Given the description of an element on the screen output the (x, y) to click on. 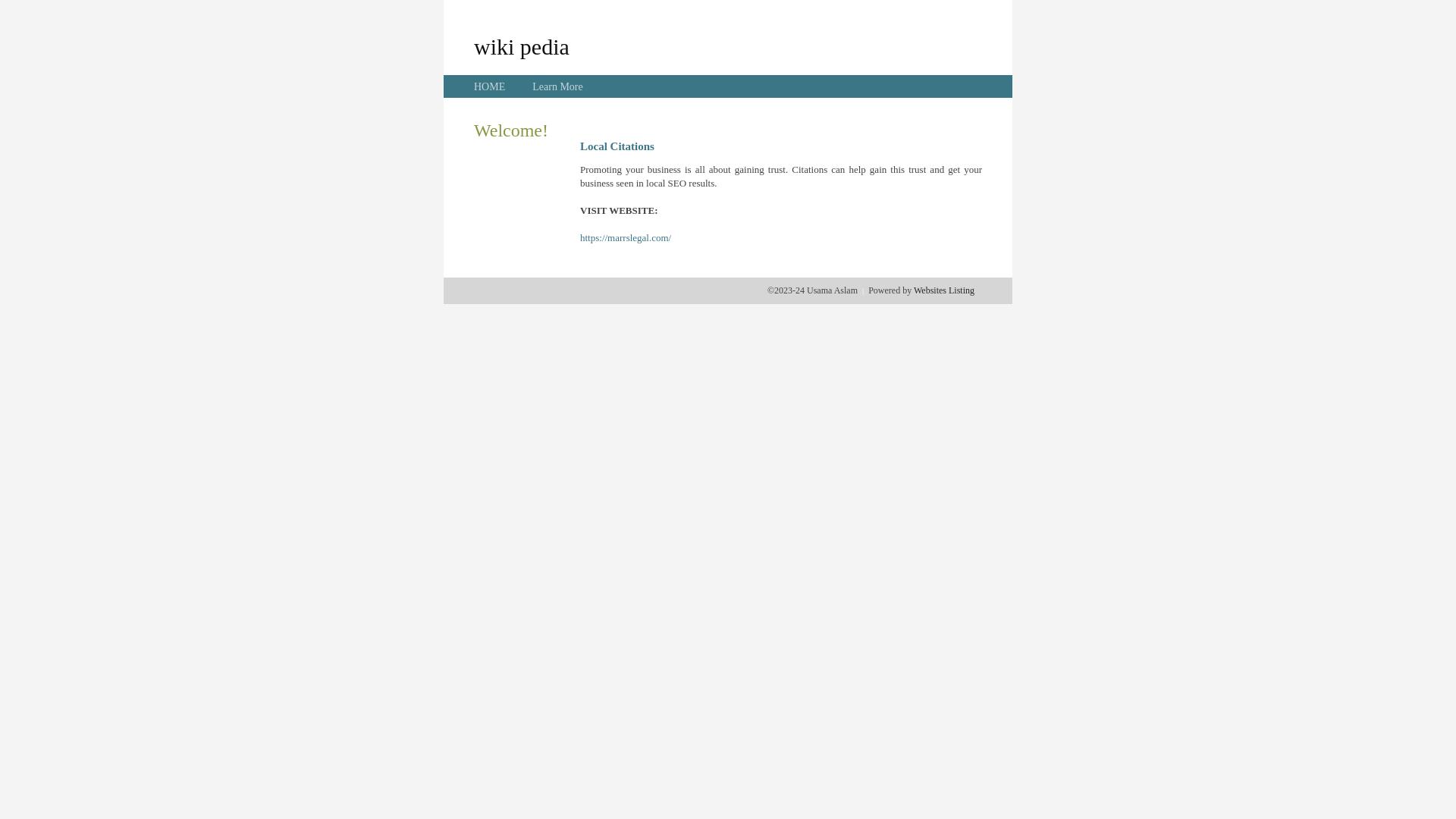
HOME Element type: text (489, 86)
wiki pedia Element type: text (521, 46)
https://marrslegal.com/ Element type: text (625, 237)
Learn More Element type: text (557, 86)
Websites Listing Element type: text (943, 290)
